Given the description of an element on the screen output the (x, y) to click on. 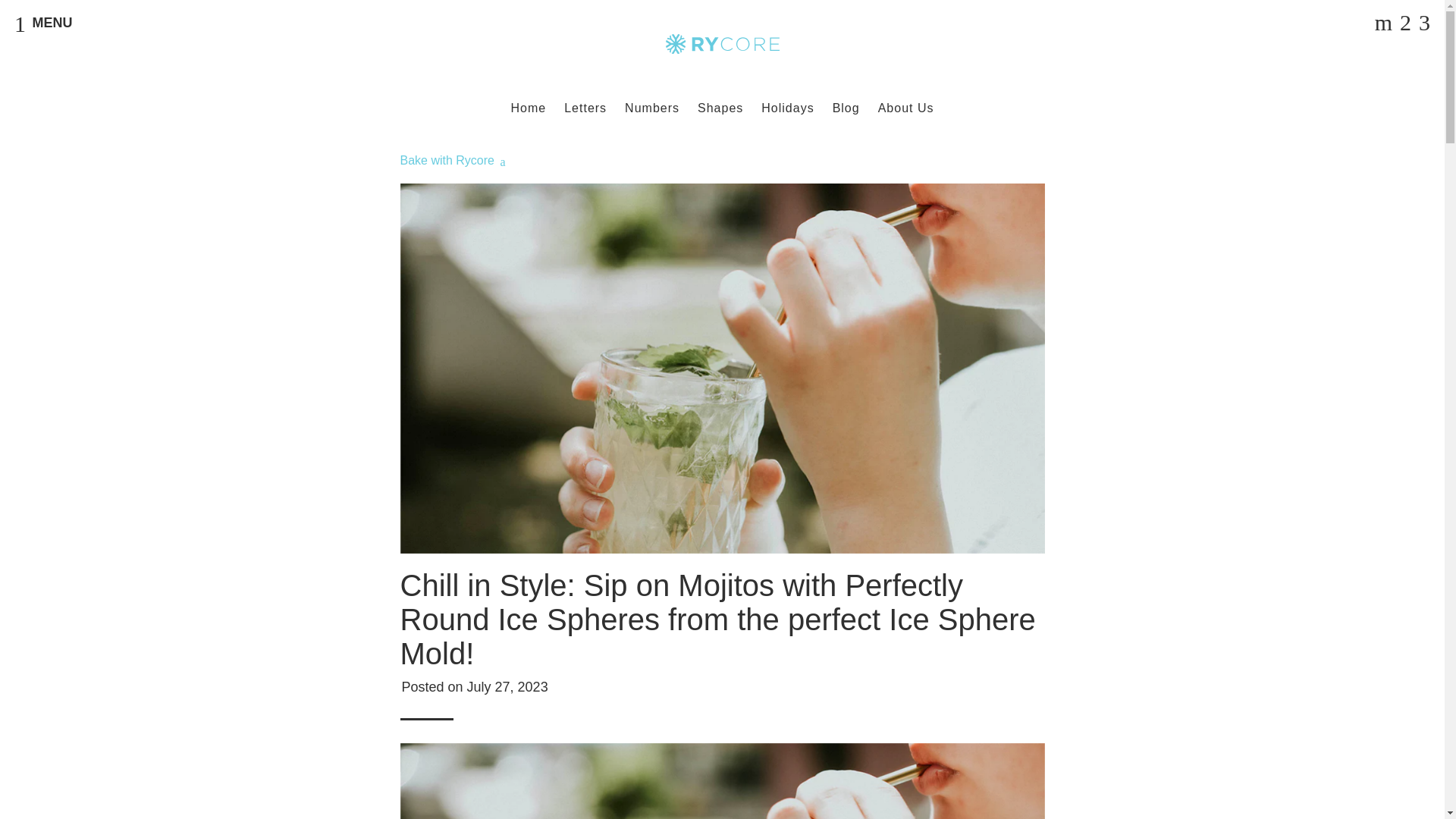
Numbers (651, 108)
Letters (584, 108)
Holidays (787, 108)
Shapes (720, 108)
MENU (42, 22)
Blog (846, 108)
Bake with Rycore (448, 160)
About Us (906, 108)
Home (529, 108)
